Given the description of an element on the screen output the (x, y) to click on. 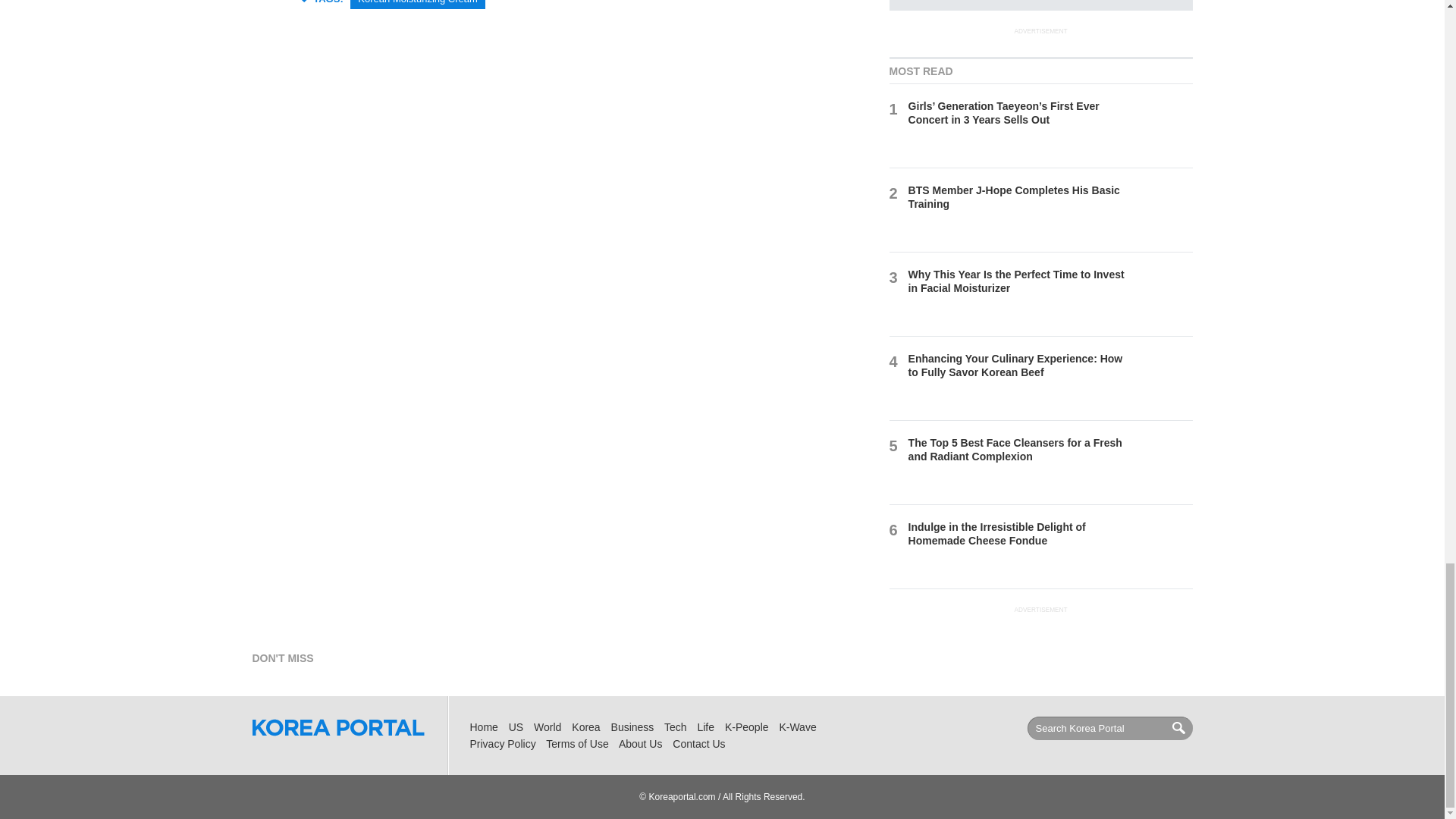
Korean Moisturizing Cream (417, 4)
